Given the description of an element on the screen output the (x, y) to click on. 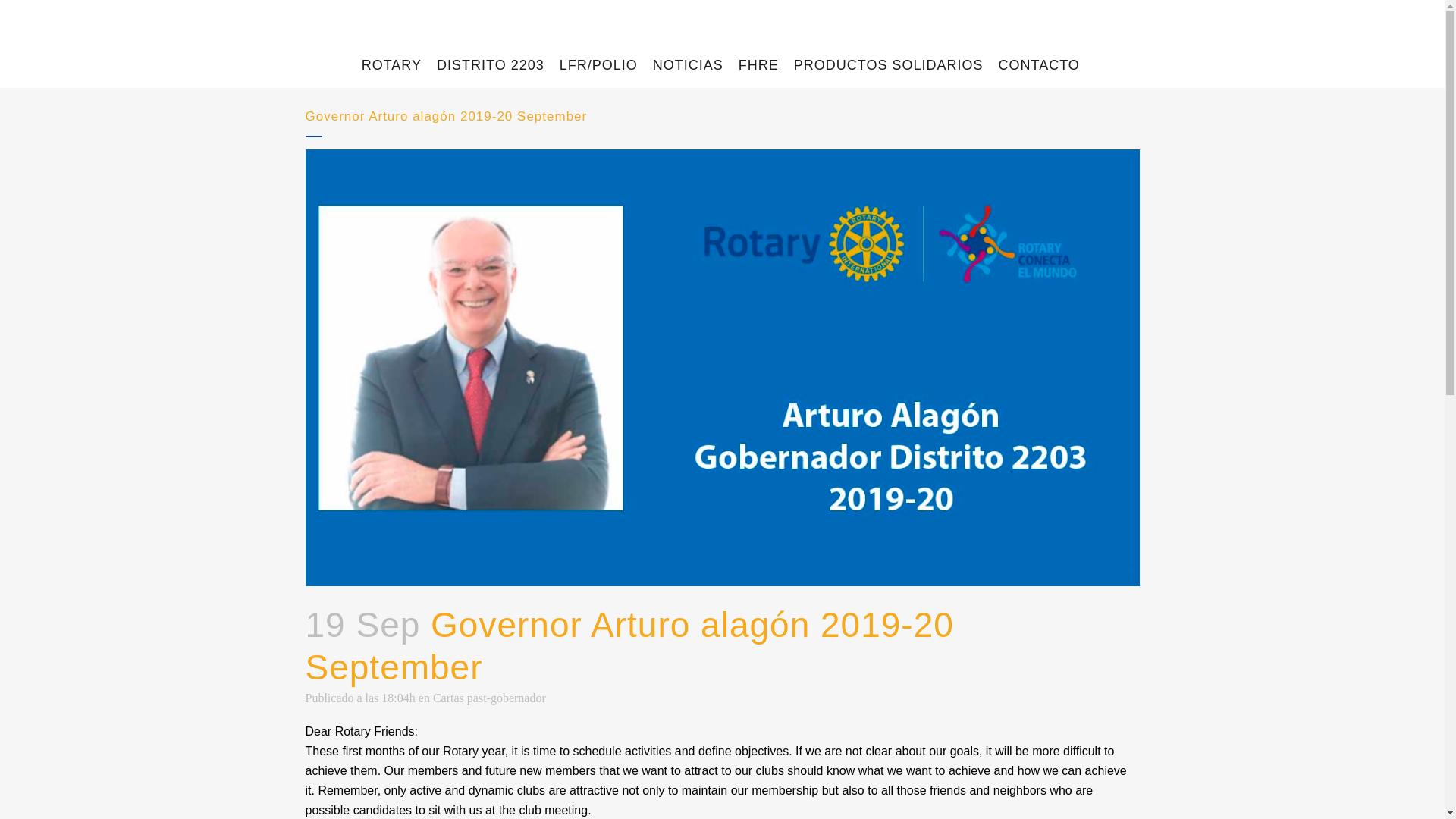
ROTARY (391, 65)
DISTRITO 2203 (490, 65)
CONTACTO (1039, 65)
PRODUCTOS SOLIDARIOS (888, 65)
NOTICIAS (687, 65)
